Given the description of an element on the screen output the (x, y) to click on. 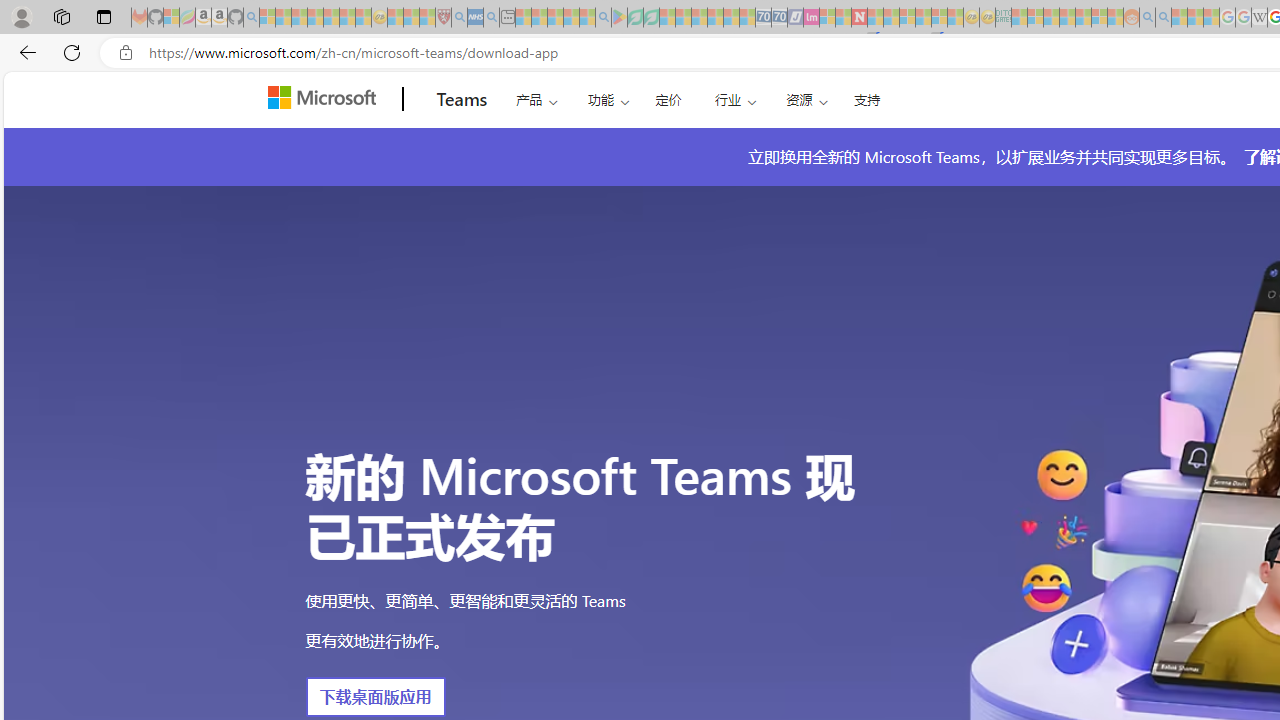
Target page - Wikipedia - Sleeping (1259, 17)
